Given the description of an element on the screen output the (x, y) to click on. 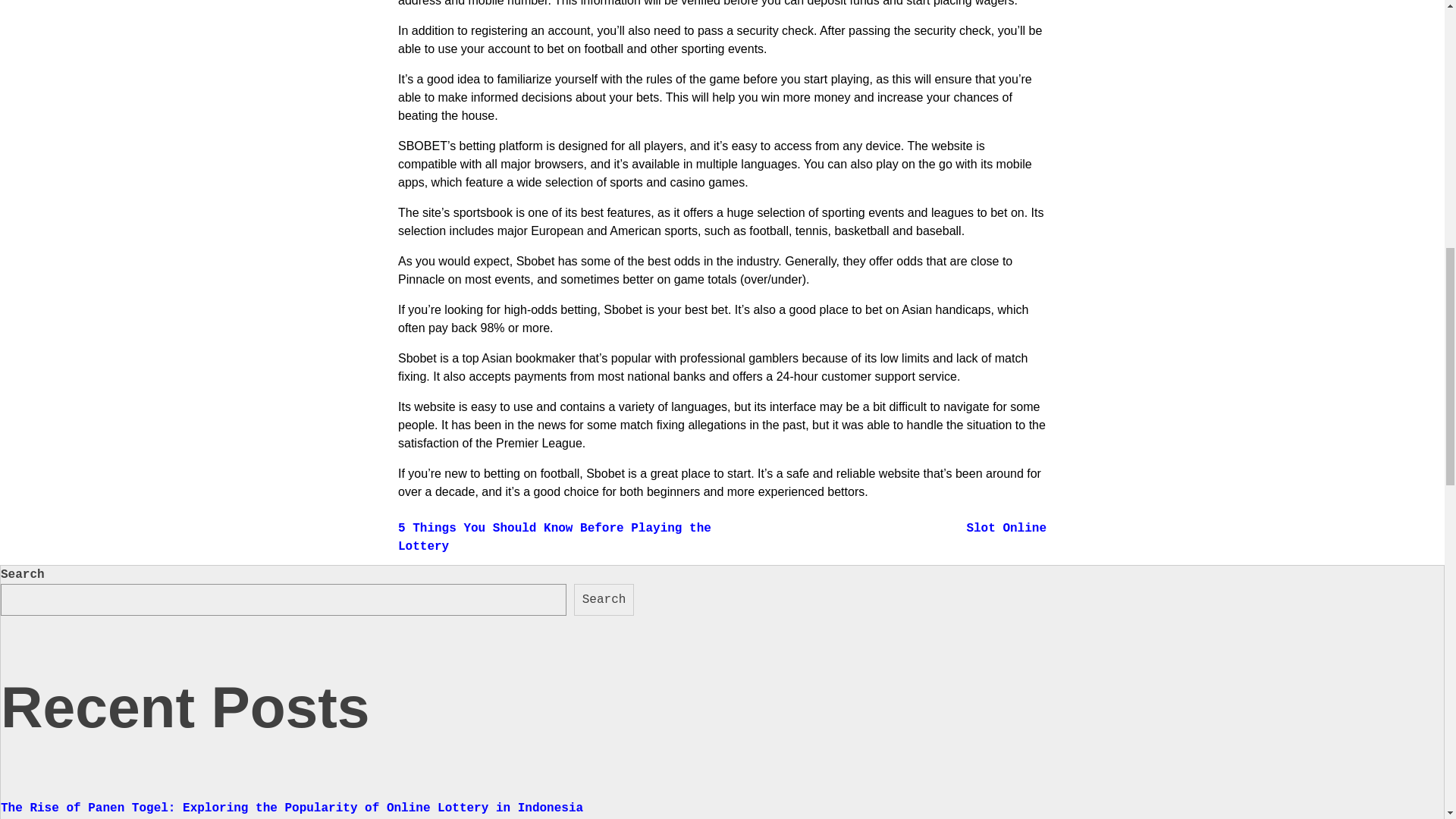
Slot Online (1006, 528)
5 Things You Should Know Before Playing the Lottery (554, 537)
Search (603, 599)
